Given the description of an element on the screen output the (x, y) to click on. 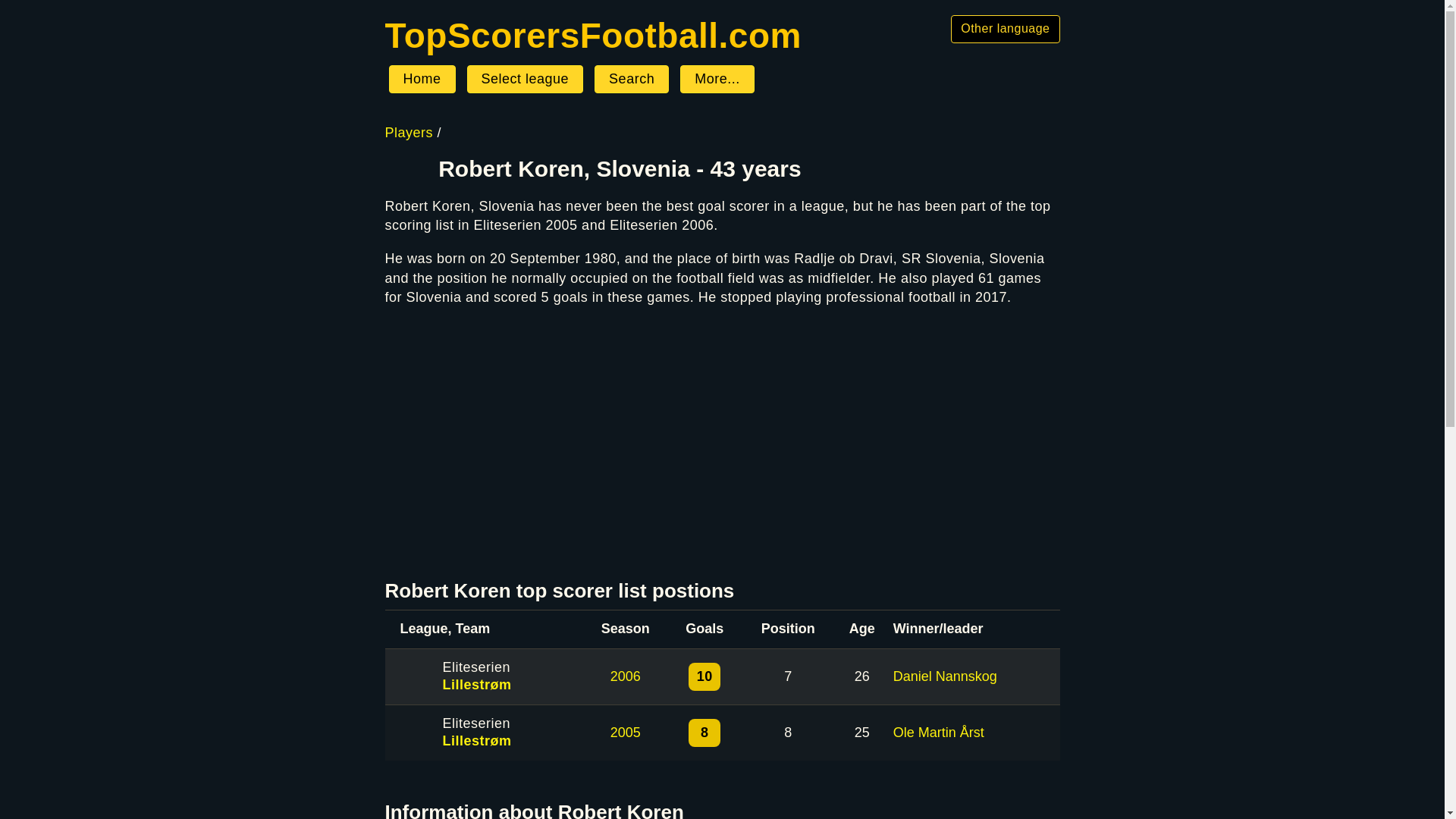
Select league (525, 79)
More... (716, 79)
Other language (1004, 29)
Home (421, 79)
Search (631, 79)
TopScorersFootball.com (593, 35)
Home (421, 79)
Other language (1004, 29)
Home (593, 35)
